Given the description of an element on the screen output the (x, y) to click on. 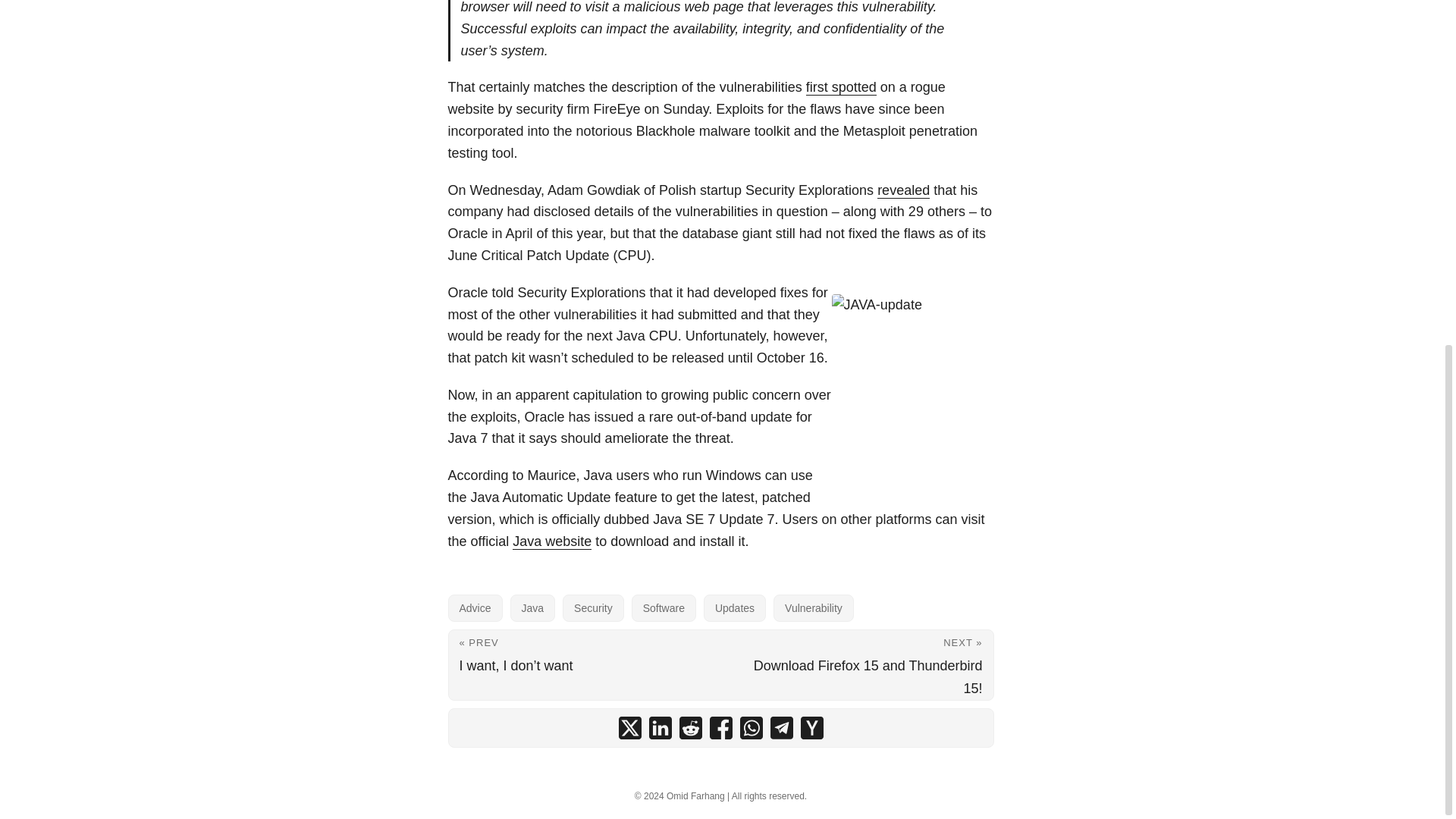
Java website (551, 540)
Vulnerability (813, 607)
Security (593, 607)
revealed (903, 190)
JAVA-update (911, 386)
Java (533, 607)
Advice (474, 607)
Updates (734, 607)
Software (663, 607)
first spotted (841, 87)
